Given the description of an element on the screen output the (x, y) to click on. 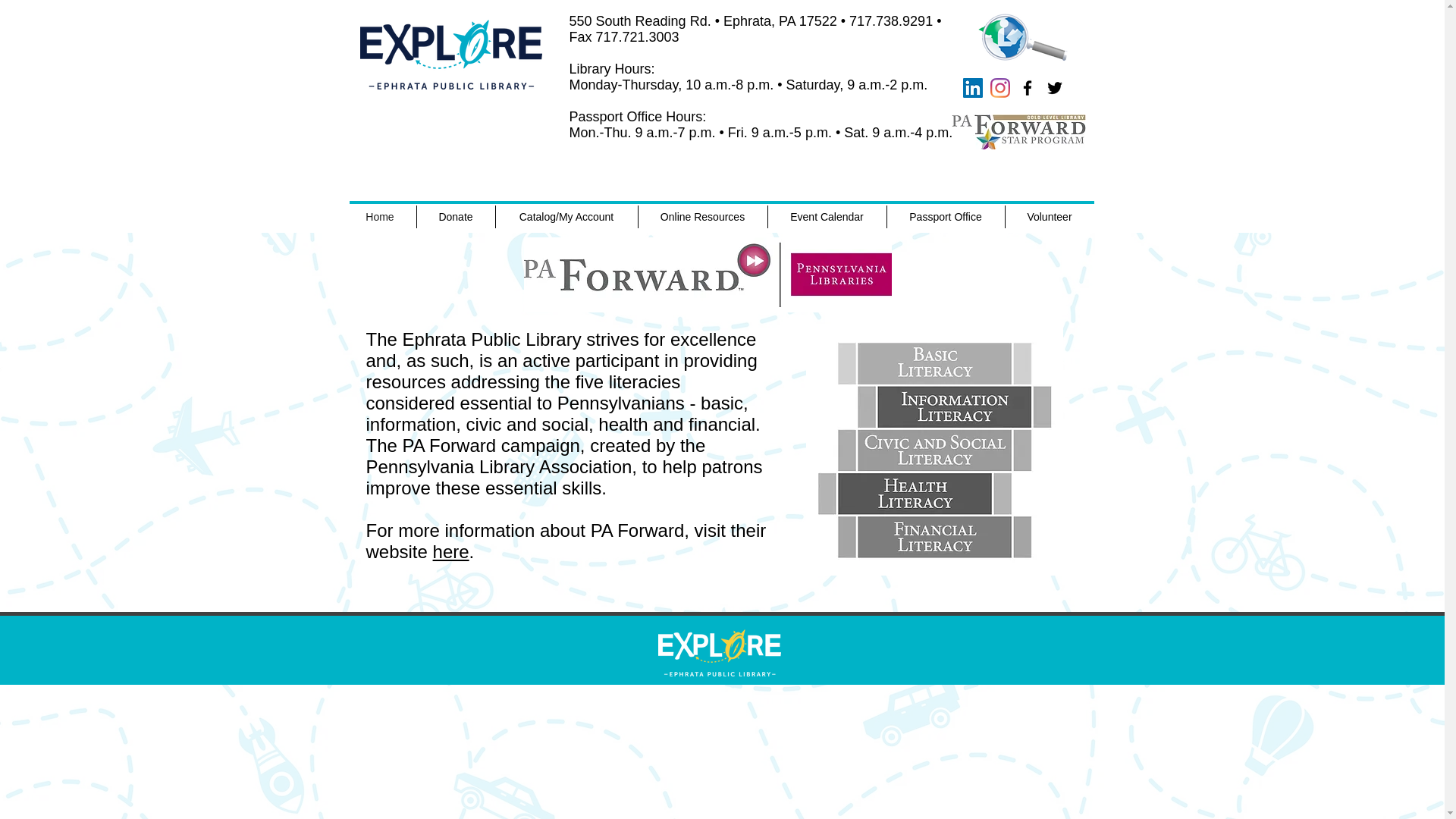
Donate (455, 216)
Home (379, 216)
Online Resources (703, 216)
here (450, 551)
Volunteer (1050, 216)
Event Calendar (826, 216)
Passport Office (945, 216)
